Given the description of an element on the screen output the (x, y) to click on. 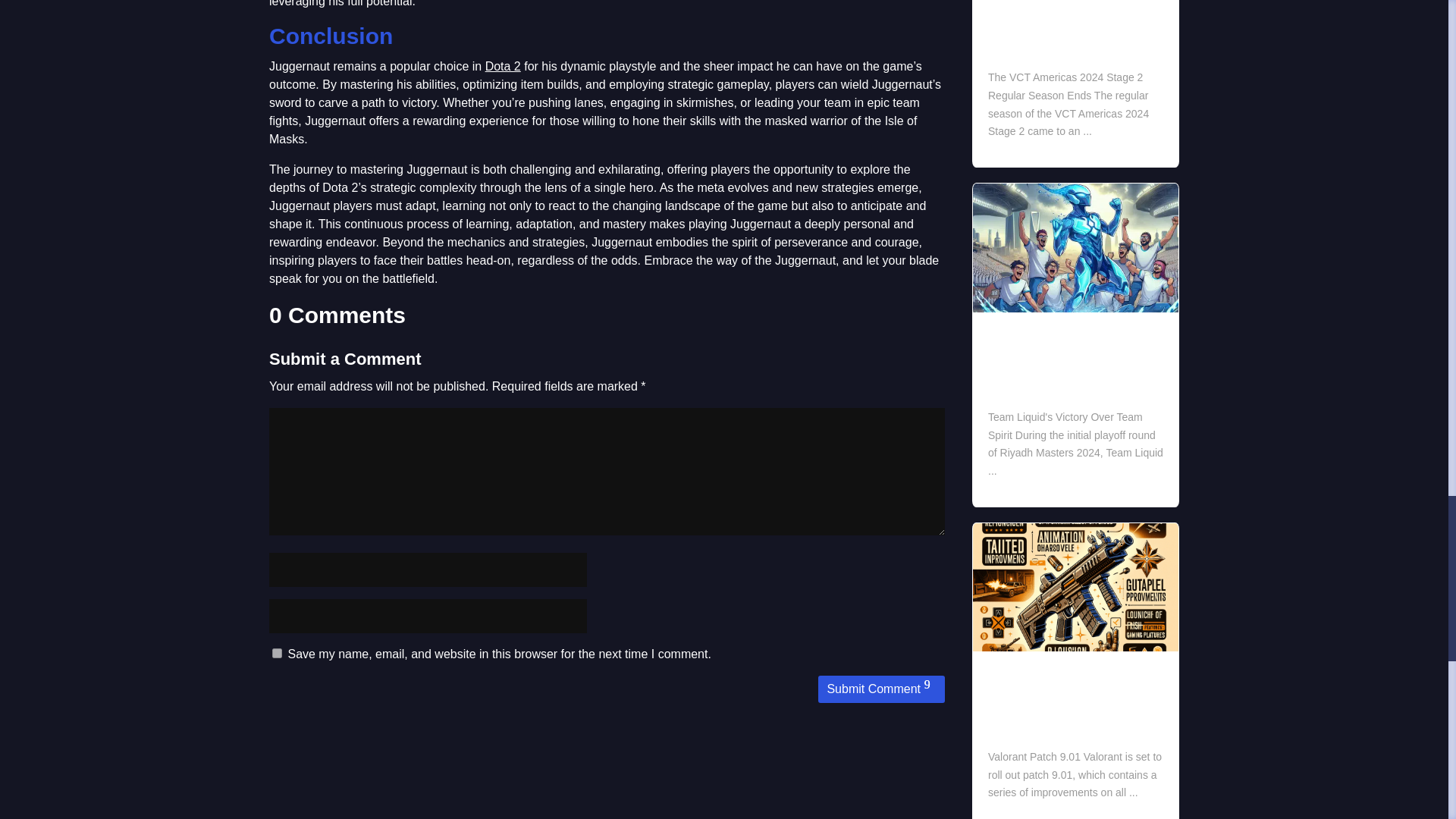
Submit Comment (881, 689)
yes (277, 653)
Dota 2 (502, 65)
Dota 2 (502, 65)
